Given the description of an element on the screen output the (x, y) to click on. 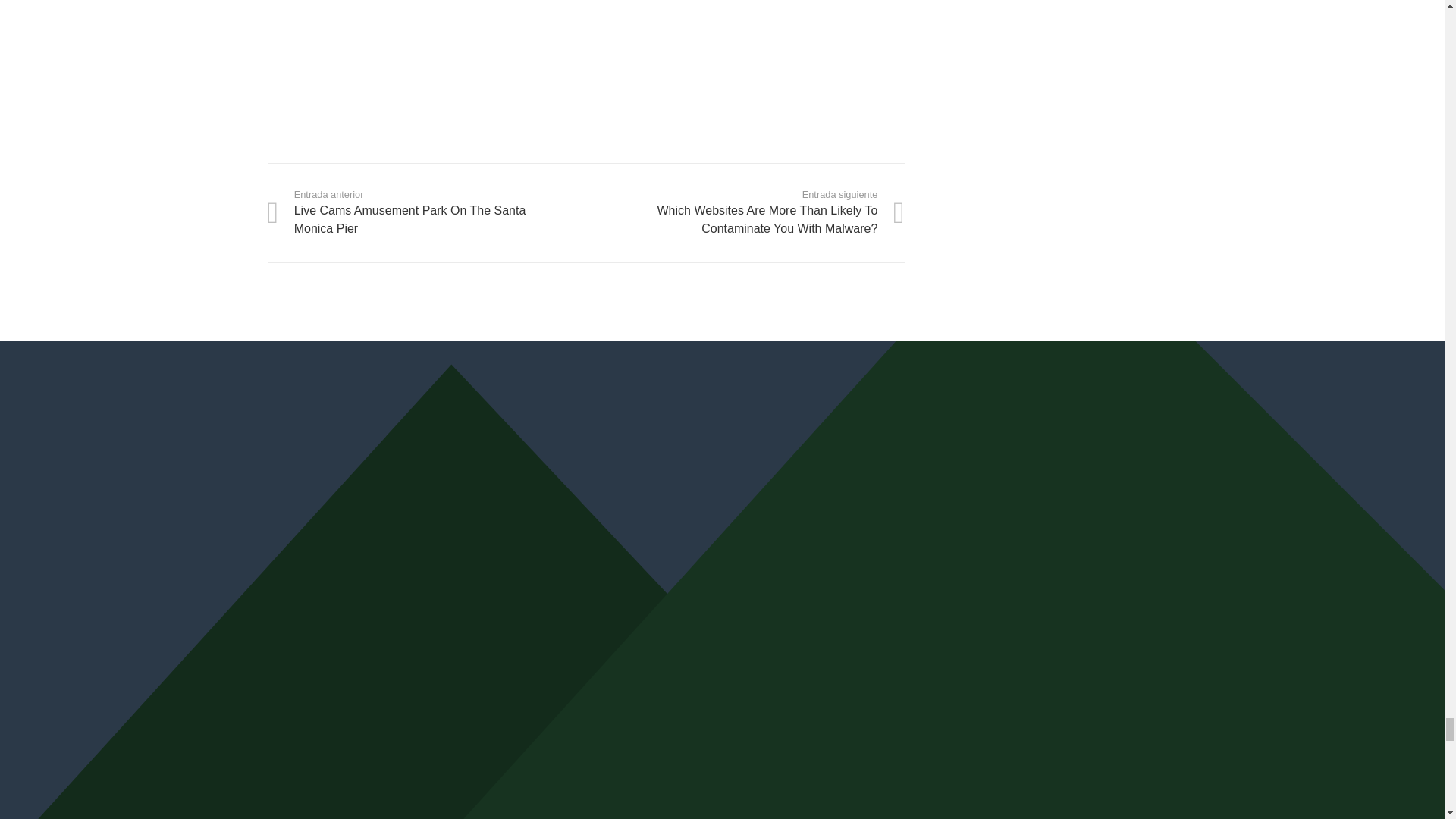
Live Cams Amusement Park On The Santa Monica Pier (425, 212)
